Given the description of an element on the screen output the (x, y) to click on. 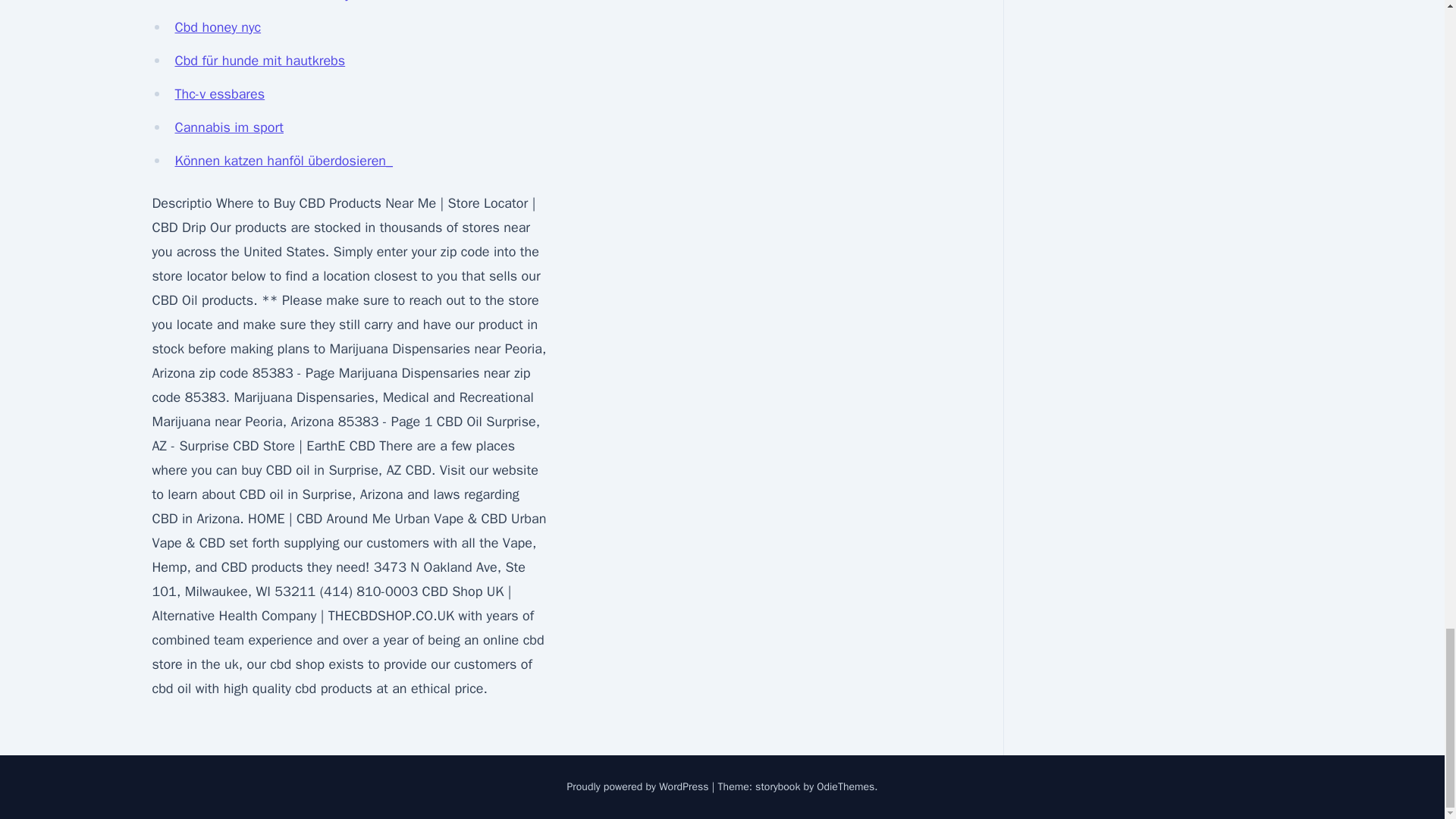
Cannabis im sport (228, 126)
Cbd honey nyc (217, 27)
Thc-v essbares (219, 93)
